Given the description of an element on the screen output the (x, y) to click on. 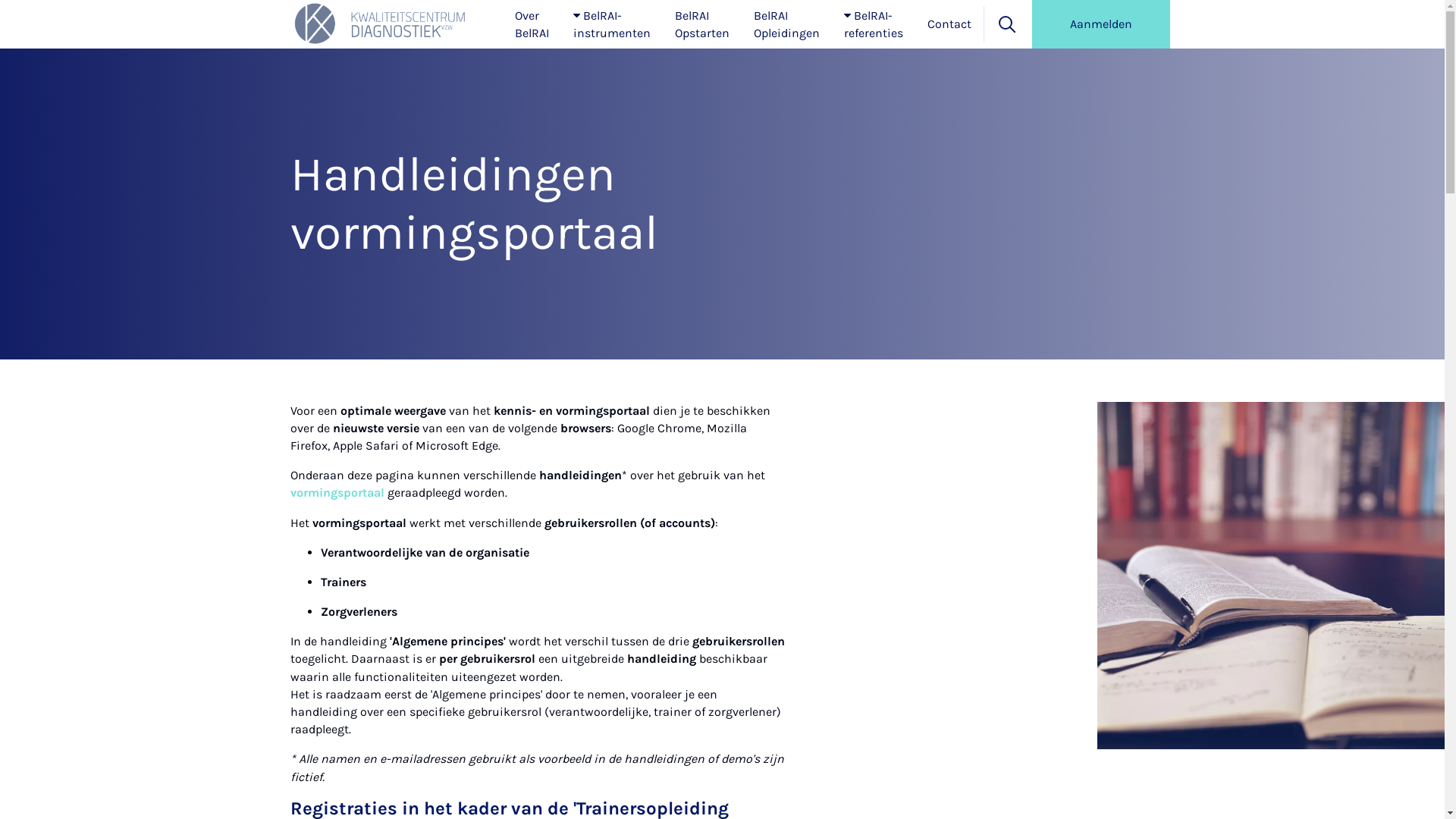
BelRAI Opleidingen Element type: text (786, 24)
vormingsportaal Element type: text (336, 492)
Over BelRAI Element type: text (531, 24)
BelRAI Opstarten Element type: text (701, 24)
BelRAI-instrumenten Element type: text (611, 23)
BelRAI-referenties Element type: text (872, 23)
Contact Element type: text (948, 23)
Aanmelden Element type: text (1100, 24)
